Given the description of an element on the screen output the (x, y) to click on. 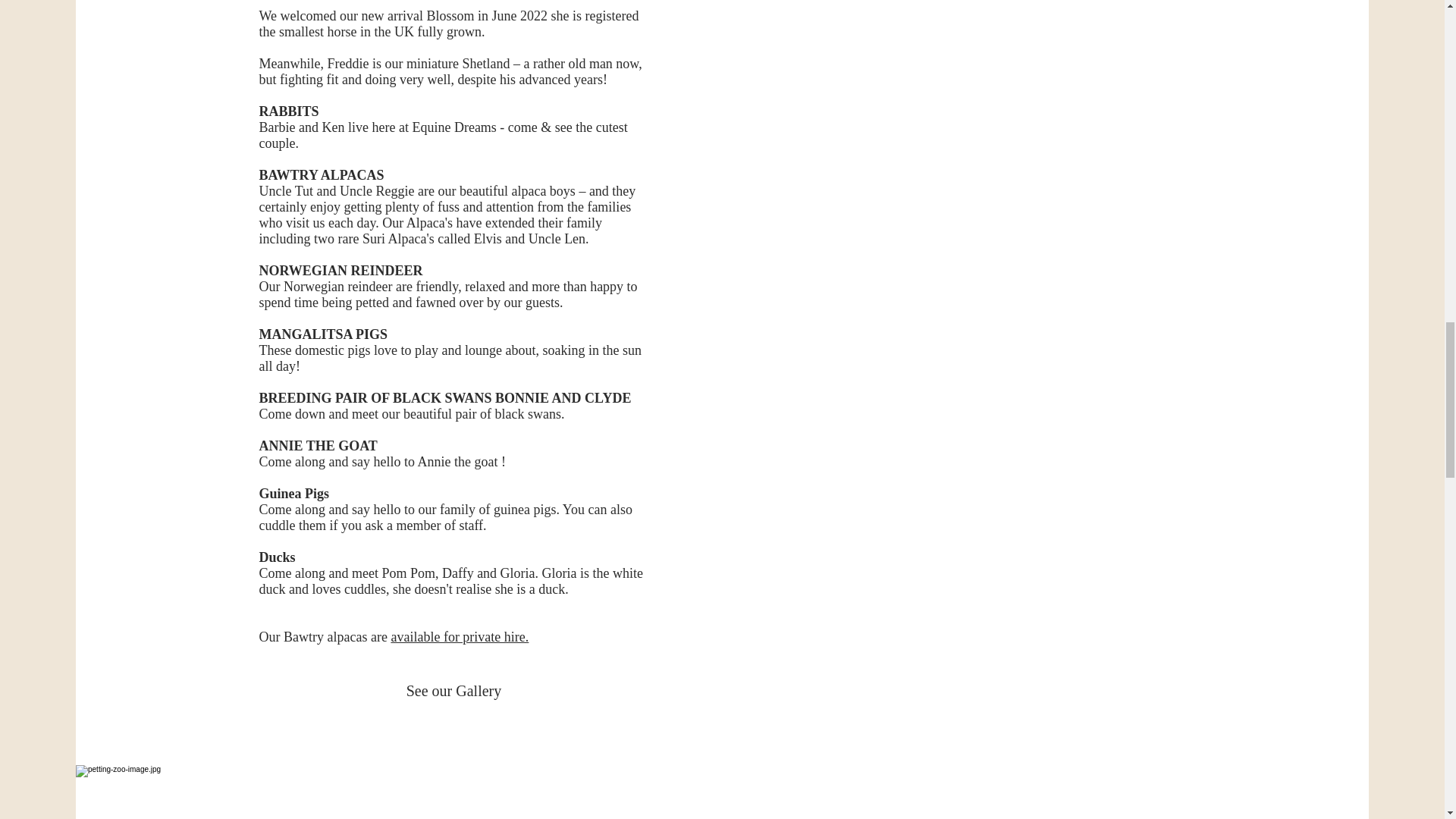
See our Gallery (453, 690)
available for private hire. (459, 636)
